Given the description of an element on the screen output the (x, y) to click on. 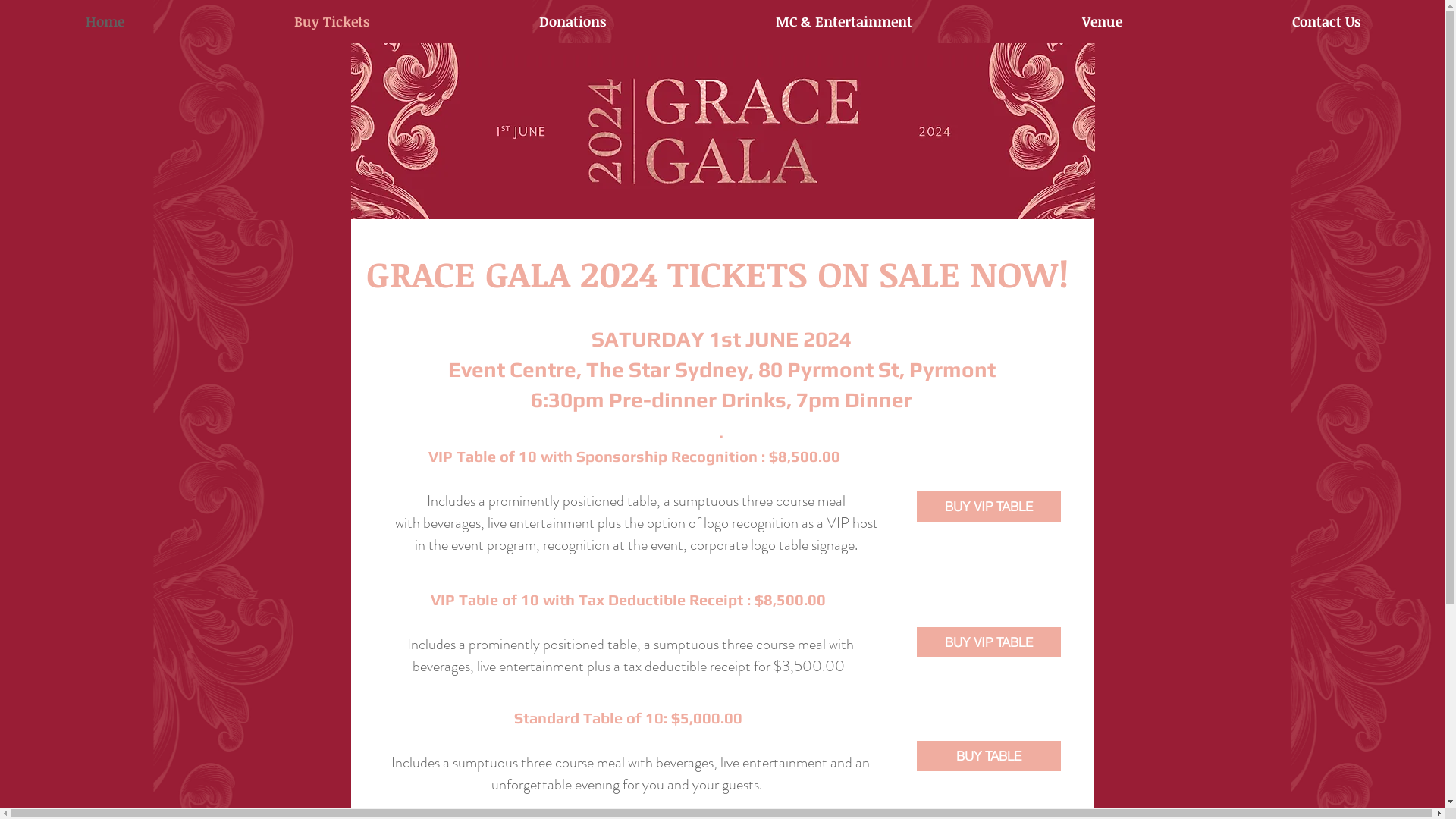
211029_GraceGala_2022_SavetheDate_WebBan Element type: hover (722, 131)
MC & Entertainment Element type: text (843, 21)
Donations Element type: text (571, 21)
BUY VIP TABLE Element type: text (988, 506)
BUY VIP TABLE Element type: text (988, 642)
Contact Us Element type: text (1326, 21)
Home Element type: text (104, 21)
Venue Element type: text (1101, 21)
BUY TABLE Element type: text (988, 755)
Buy Tickets Element type: text (331, 21)
